Given the description of an element on the screen output the (x, y) to click on. 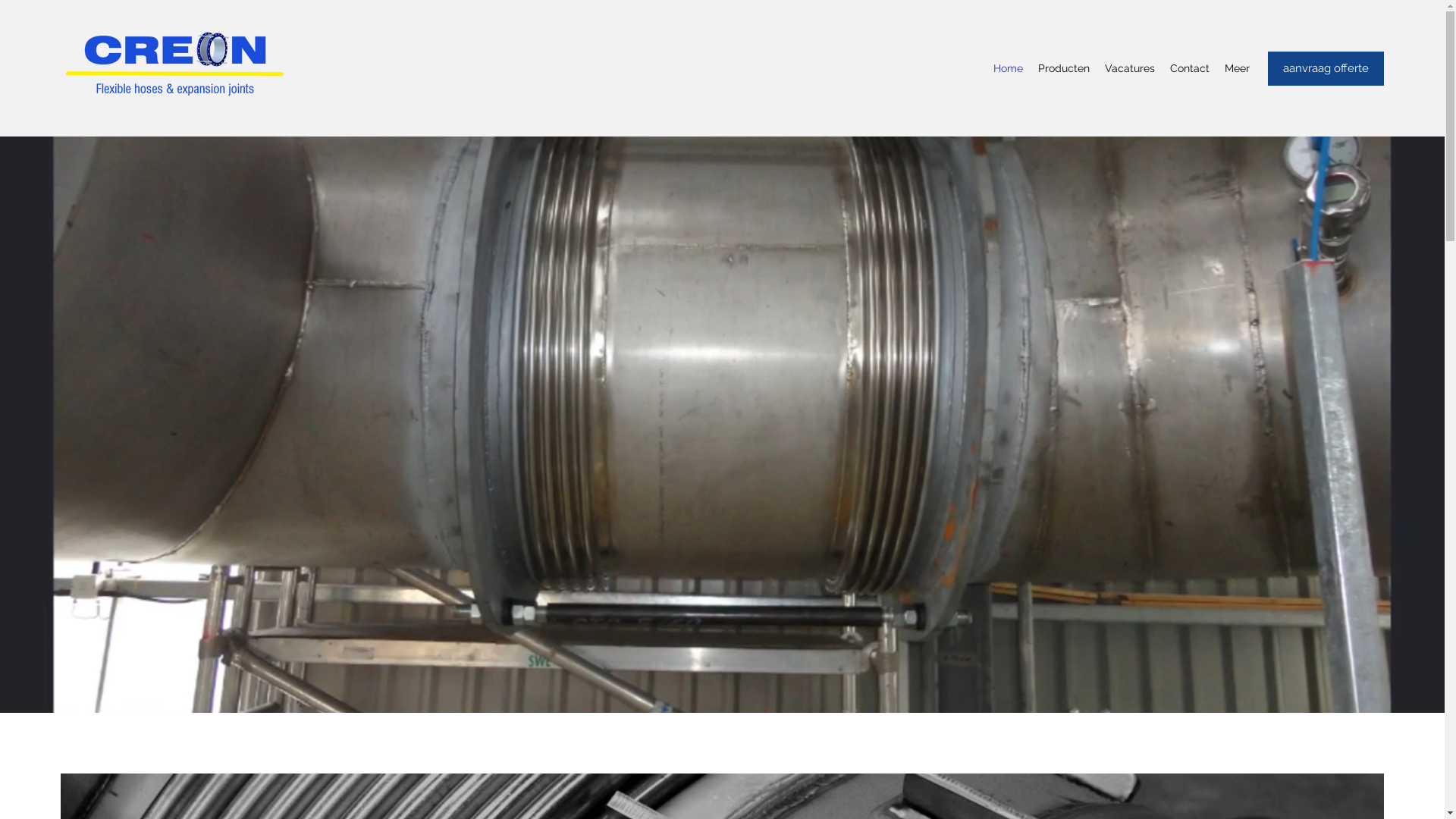
Producten Element type: text (1063, 67)
aanvraag offerte Element type: text (1325, 68)
Vacatures Element type: text (1129, 67)
Home Element type: text (1007, 67)
Contact Element type: text (1189, 67)
